Given the description of an element on the screen output the (x, y) to click on. 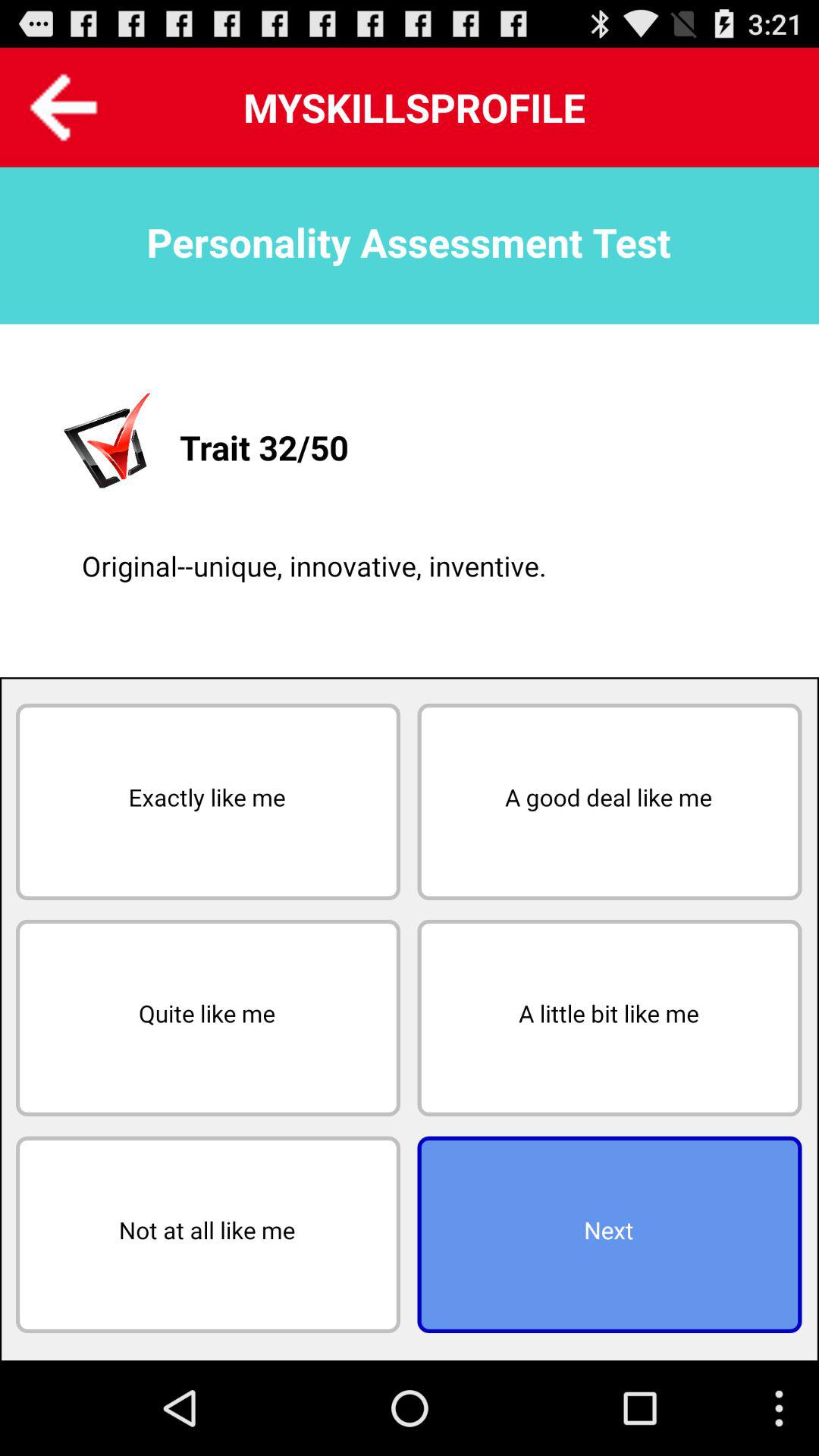
turn off the button above the a little bit button (609, 801)
